Given the description of an element on the screen output the (x, y) to click on. 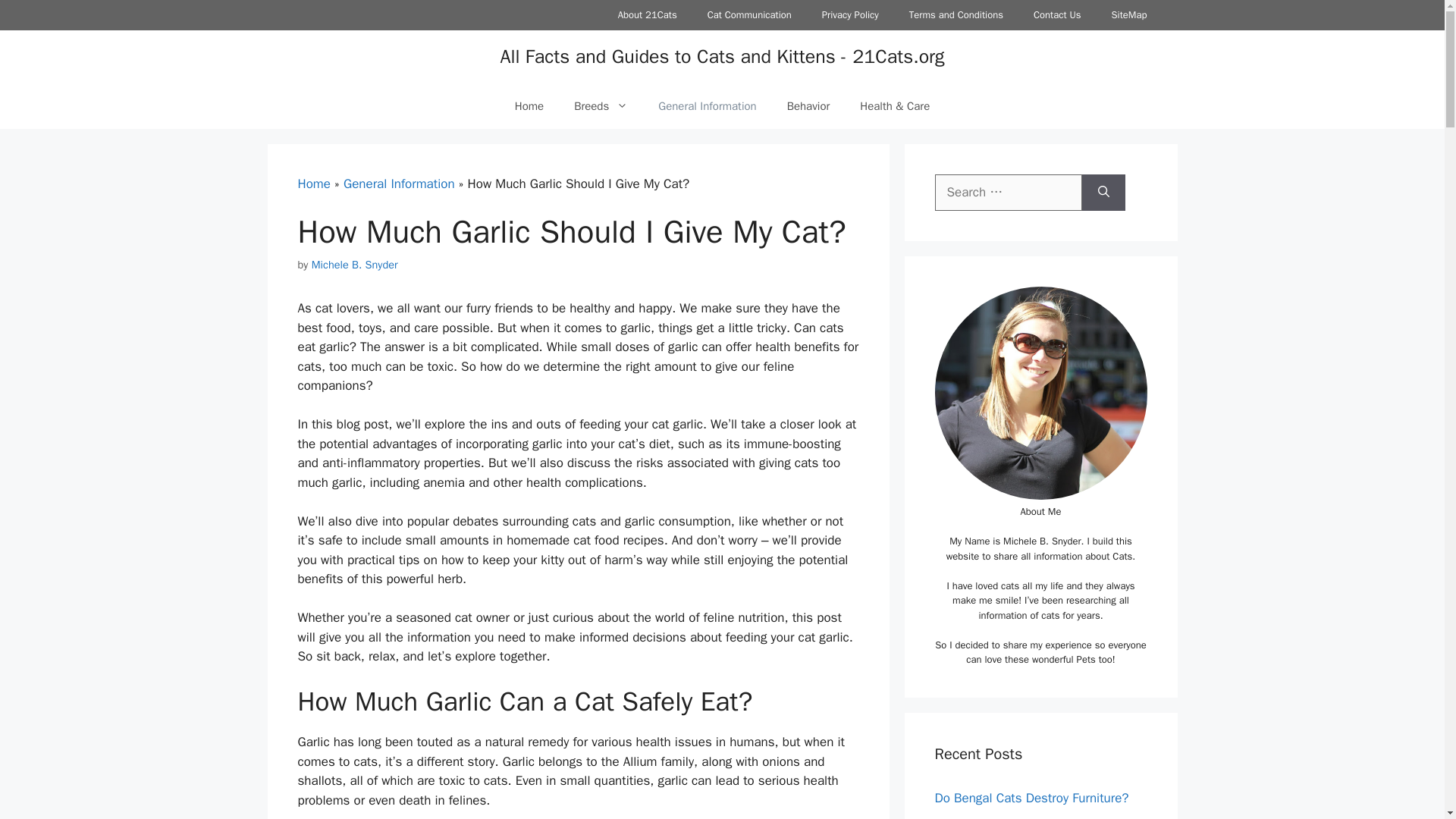
Terms and Conditions (955, 15)
SiteMap (1128, 15)
Do Bengal Cats Destroy Furniture? (1031, 797)
Cat Communication (749, 15)
Search for: (1007, 192)
Privacy Policy (849, 15)
Home (313, 183)
General Information (398, 183)
Contact Us (1056, 15)
About 21Cats (647, 15)
Behavior (808, 105)
Home (529, 105)
Breeds (601, 105)
View all posts by Michele B. Snyder (354, 264)
General Information (707, 105)
